Given the description of an element on the screen output the (x, y) to click on. 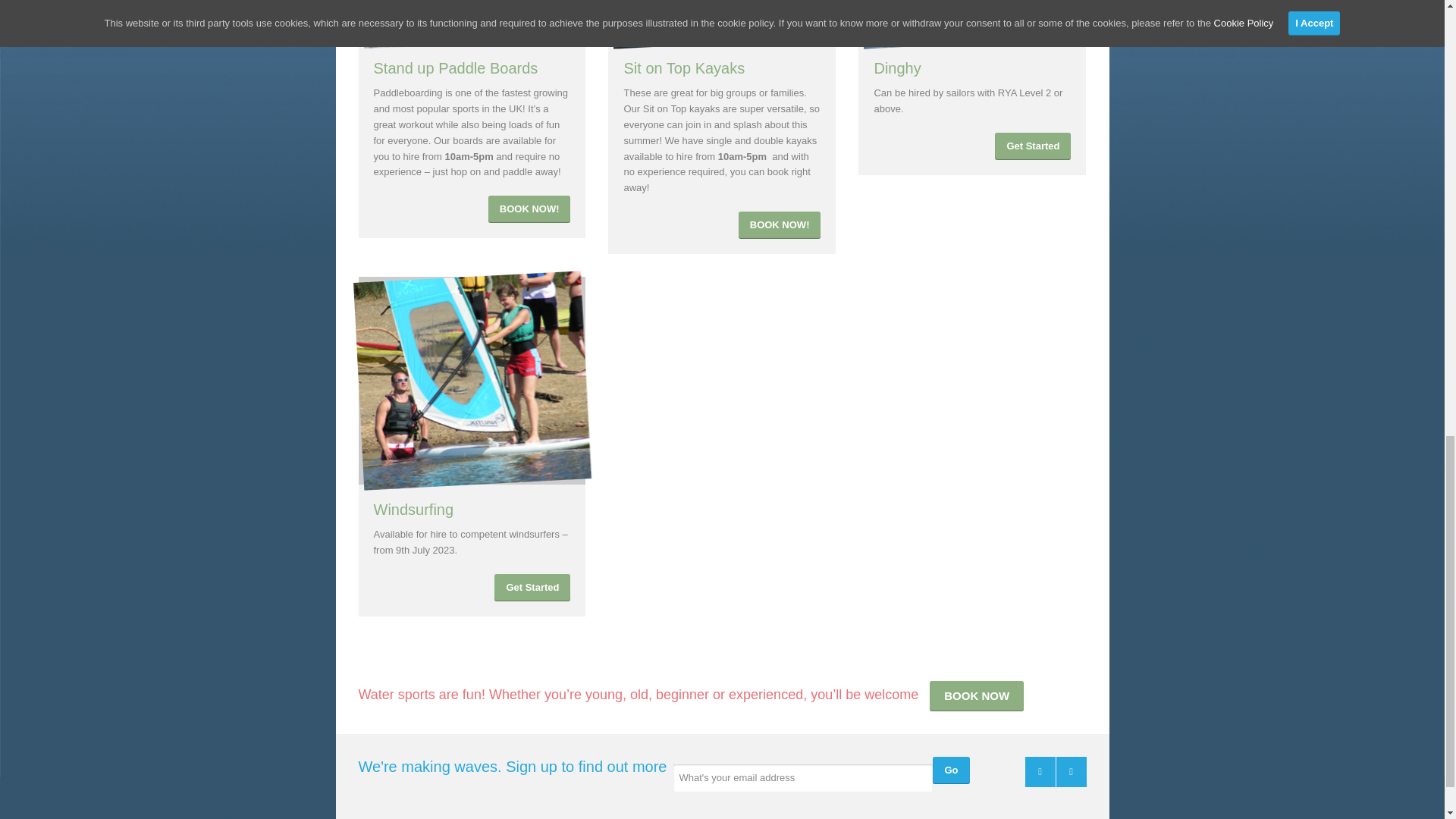
Go (951, 769)
